Given the description of an element on the screen output the (x, y) to click on. 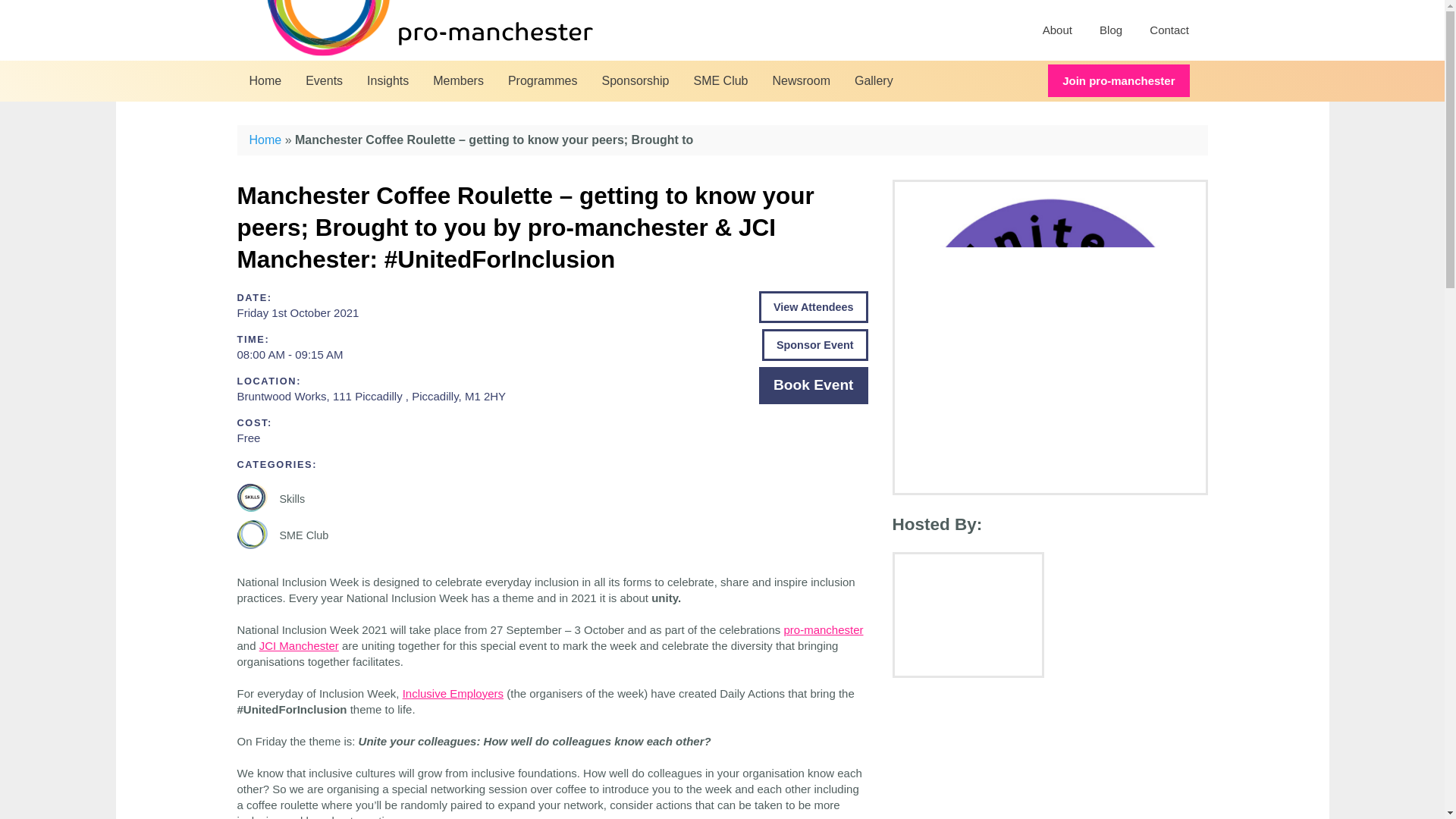
SME Club (720, 80)
Events (324, 80)
Contact (1169, 30)
View Attendees (812, 306)
Insights (387, 80)
Members (458, 80)
Home (264, 139)
Sponsorship (635, 80)
Newsroom (800, 80)
Join pro-manchester (1118, 80)
Home (264, 80)
JCI Manchester (299, 645)
Book Event (812, 385)
Programmes (542, 80)
Inclusive Employers (453, 693)
